Given the description of an element on the screen output the (x, y) to click on. 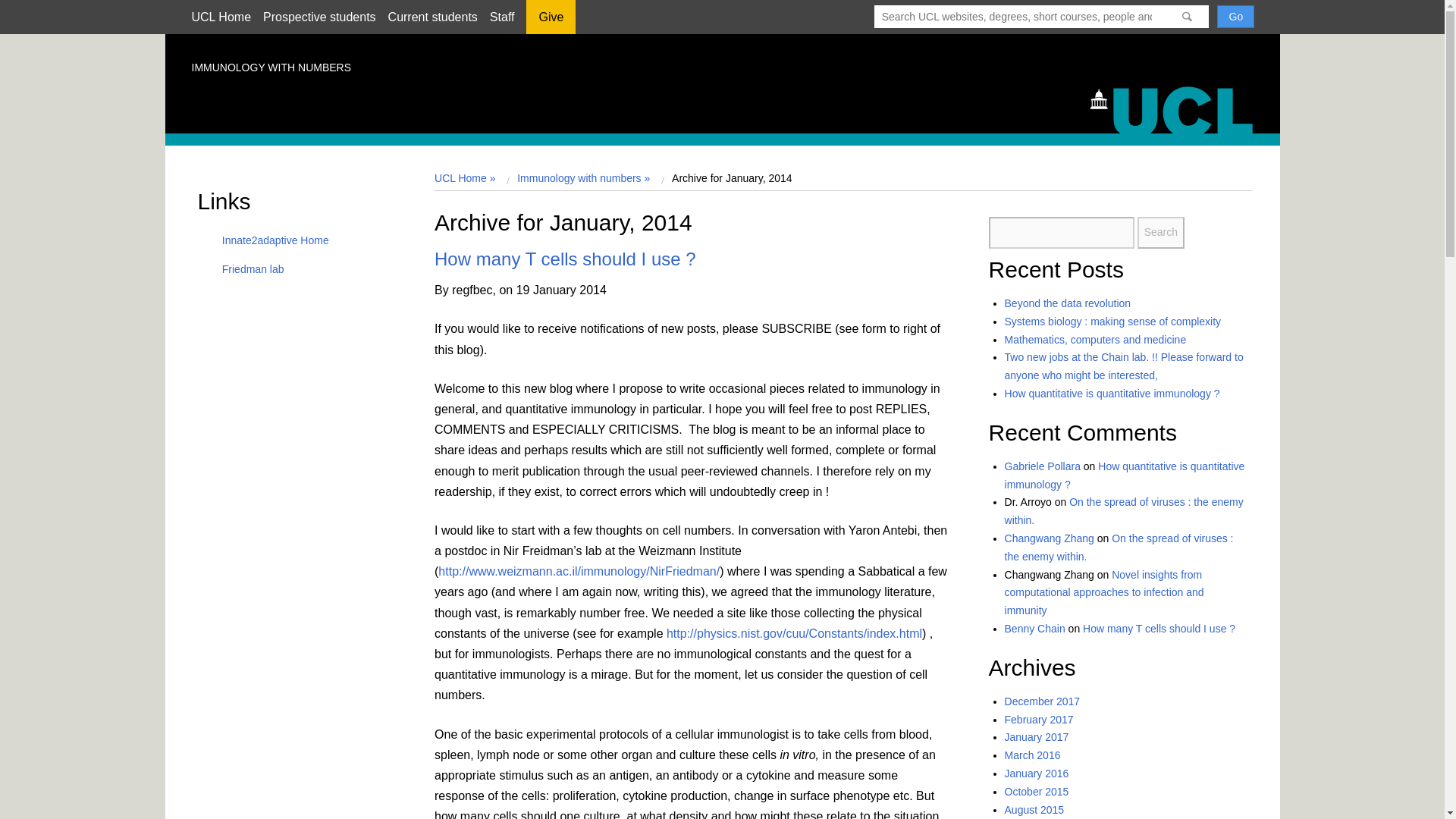
On the spread of viruses : the enemy within. (1118, 547)
Changwang Zhang (1049, 538)
Give (550, 22)
Home (1178, 108)
How many T cells should I use ? (564, 258)
Innate2adaptive Home (270, 240)
Systems biology : making sense of complexity (1112, 321)
March 2016 (1032, 755)
Prospective students (319, 16)
Go (1235, 15)
February 2017 (1039, 719)
How quantitative is quantitative immunology ? (1112, 393)
October 2015 (1036, 791)
Go (1235, 15)
Search (1161, 232)
